Given the description of an element on the screen output the (x, y) to click on. 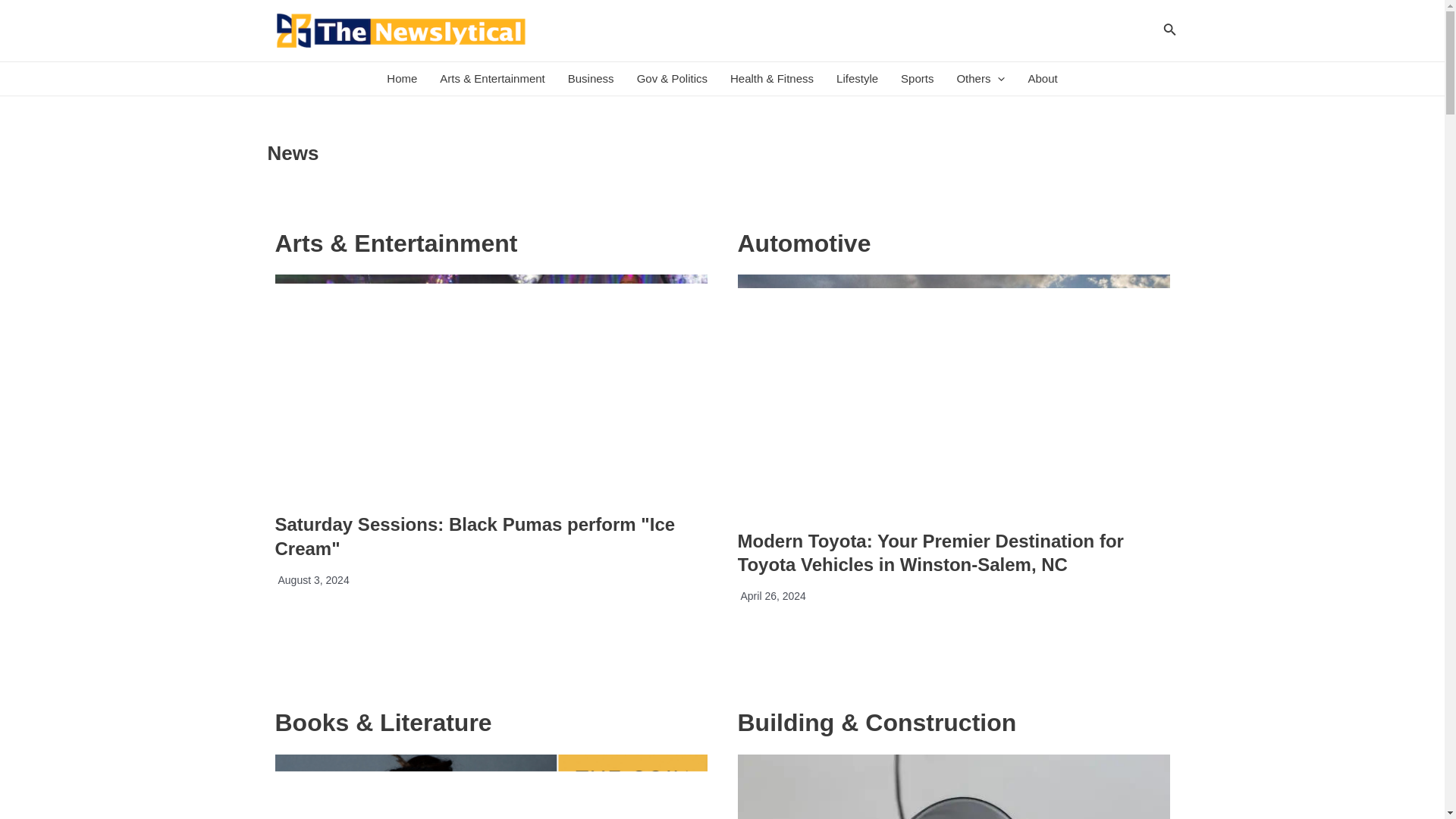
Lifestyle (857, 78)
Sports (916, 78)
About (1042, 78)
Business (591, 78)
Home (401, 78)
Others (980, 78)
